Given the description of an element on the screen output the (x, y) to click on. 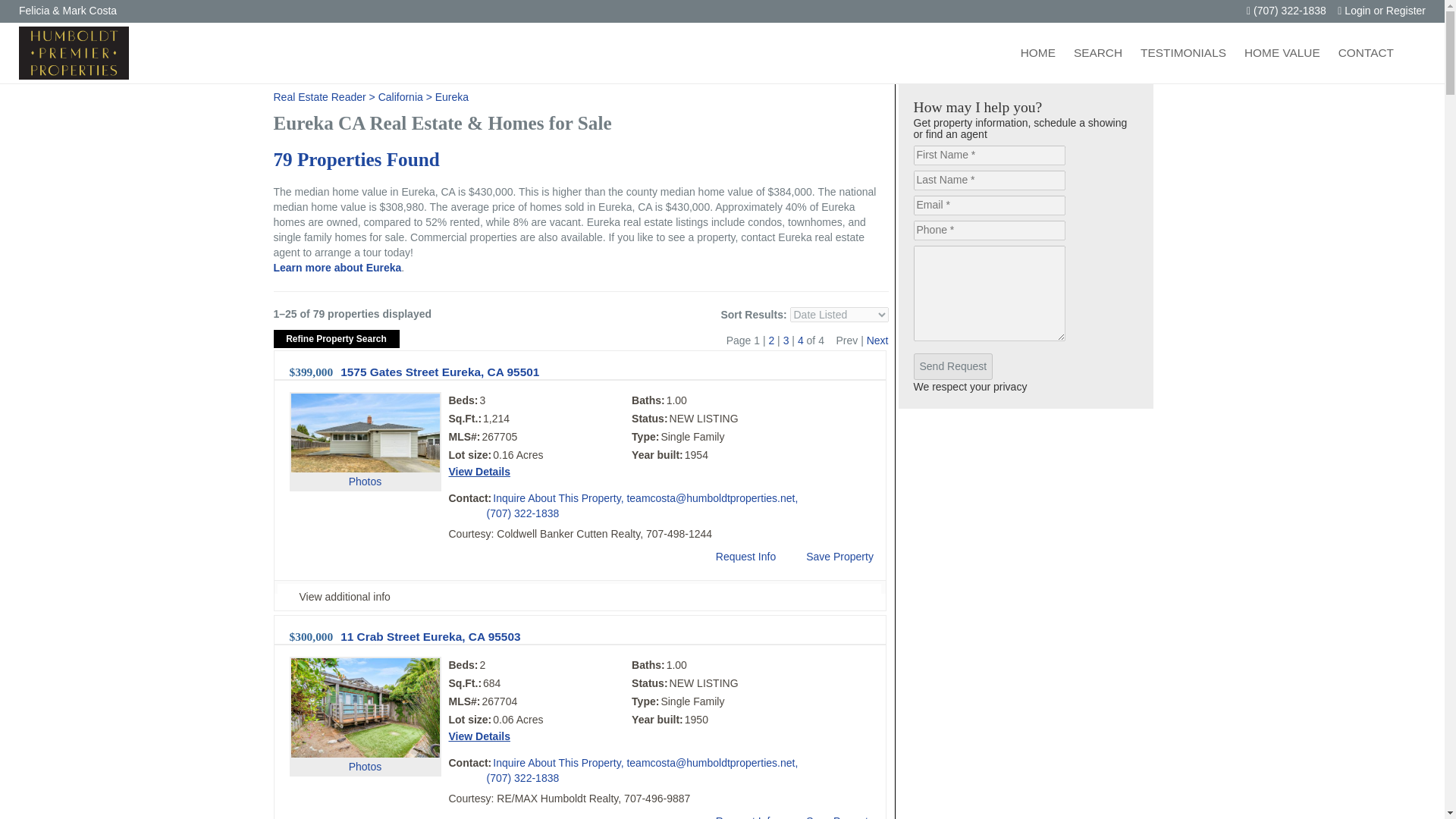
Real Estate Reader (319, 96)
Request Info (734, 816)
1575 Gates Street Eureka, CA 95501 (439, 371)
Login or Register (1381, 10)
HOME VALUE (1281, 52)
CONTACT (1366, 52)
View property remarks and map (580, 596)
TESTIMONIALS (1182, 52)
View Details (479, 471)
SEARCH (1097, 52)
